Given the description of an element on the screen output the (x, y) to click on. 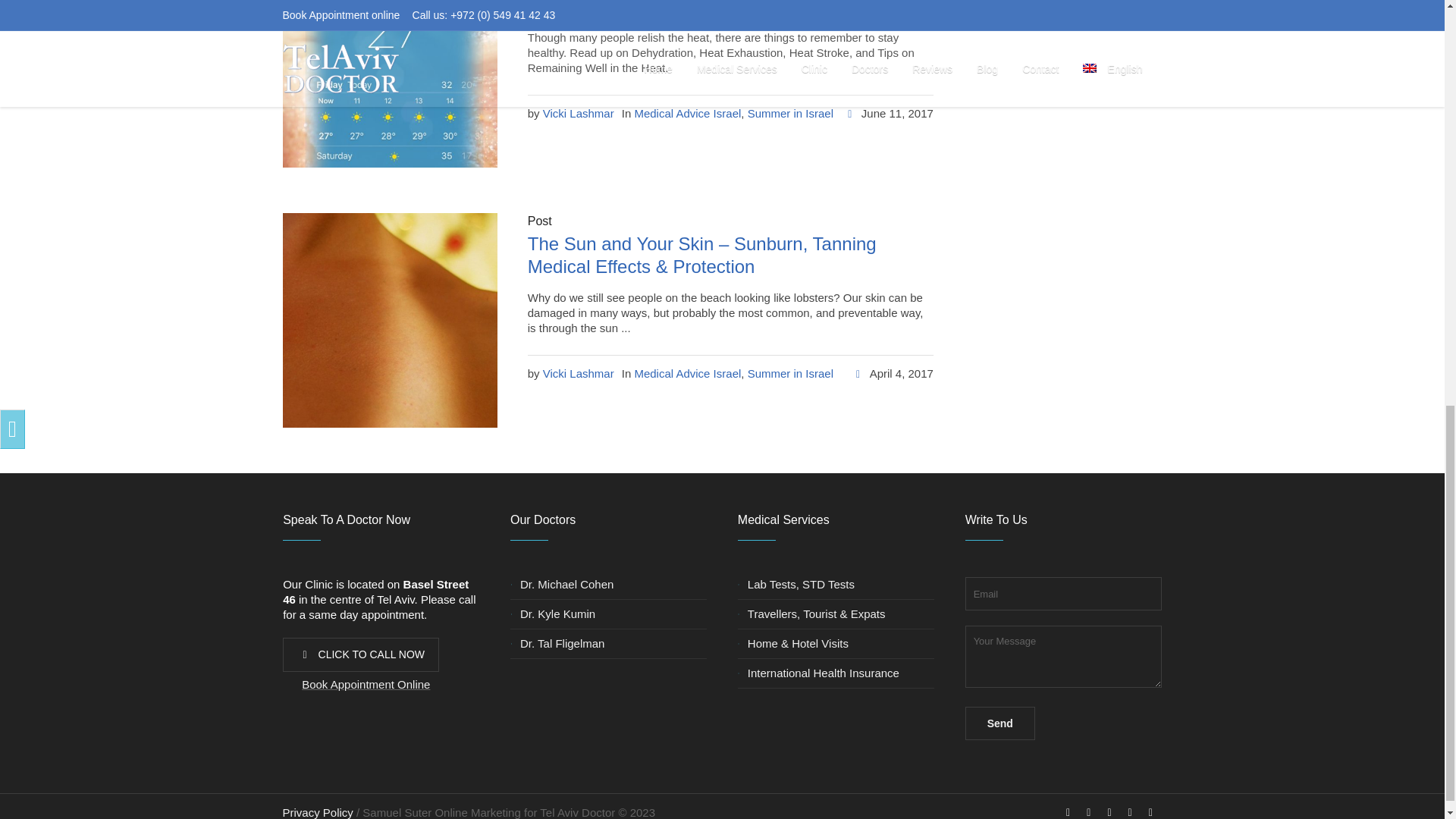
Send (1000, 723)
